Given the description of an element on the screen output the (x, y) to click on. 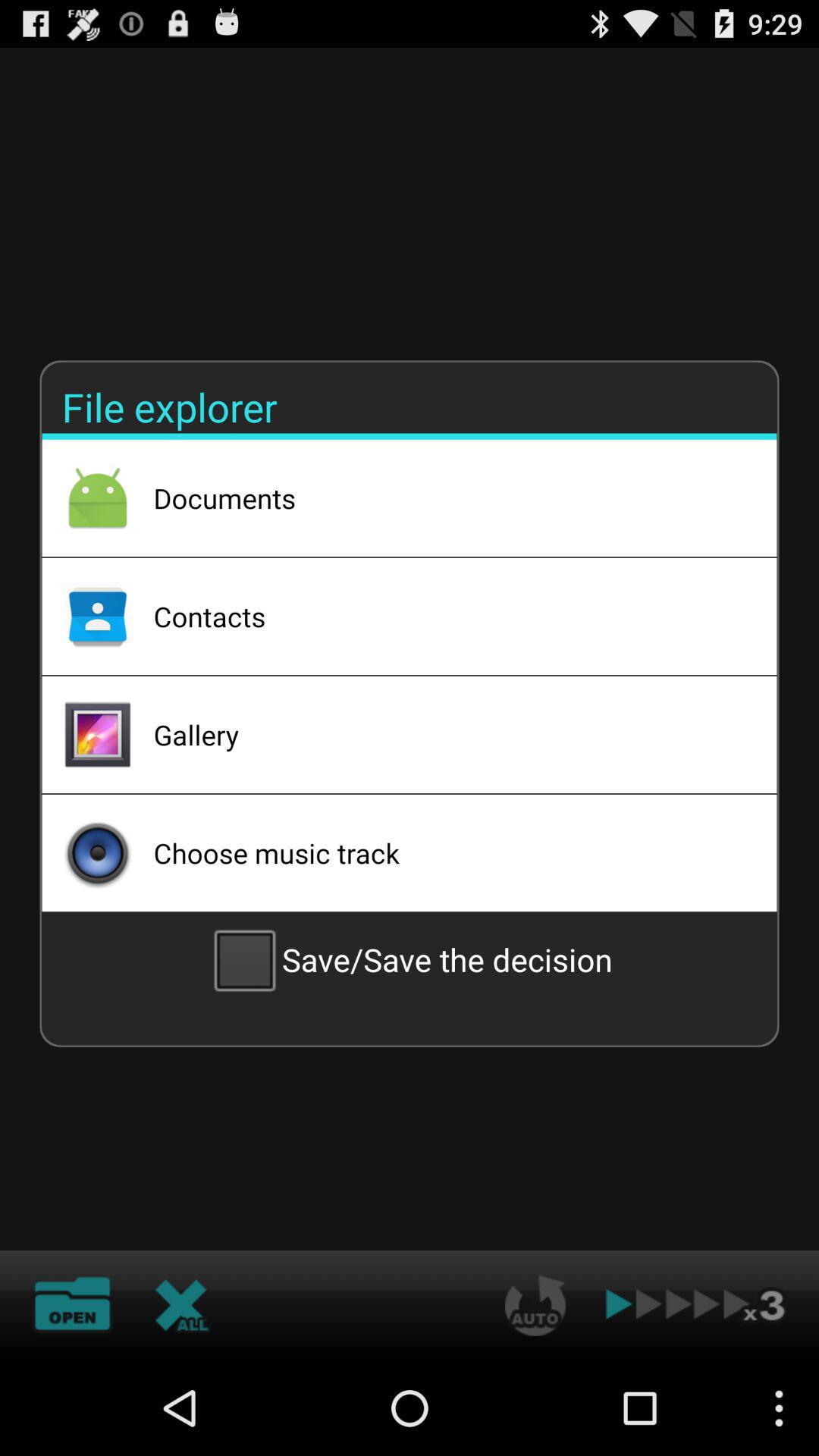
flip to save save the item (409, 959)
